Given the description of an element on the screen output the (x, y) to click on. 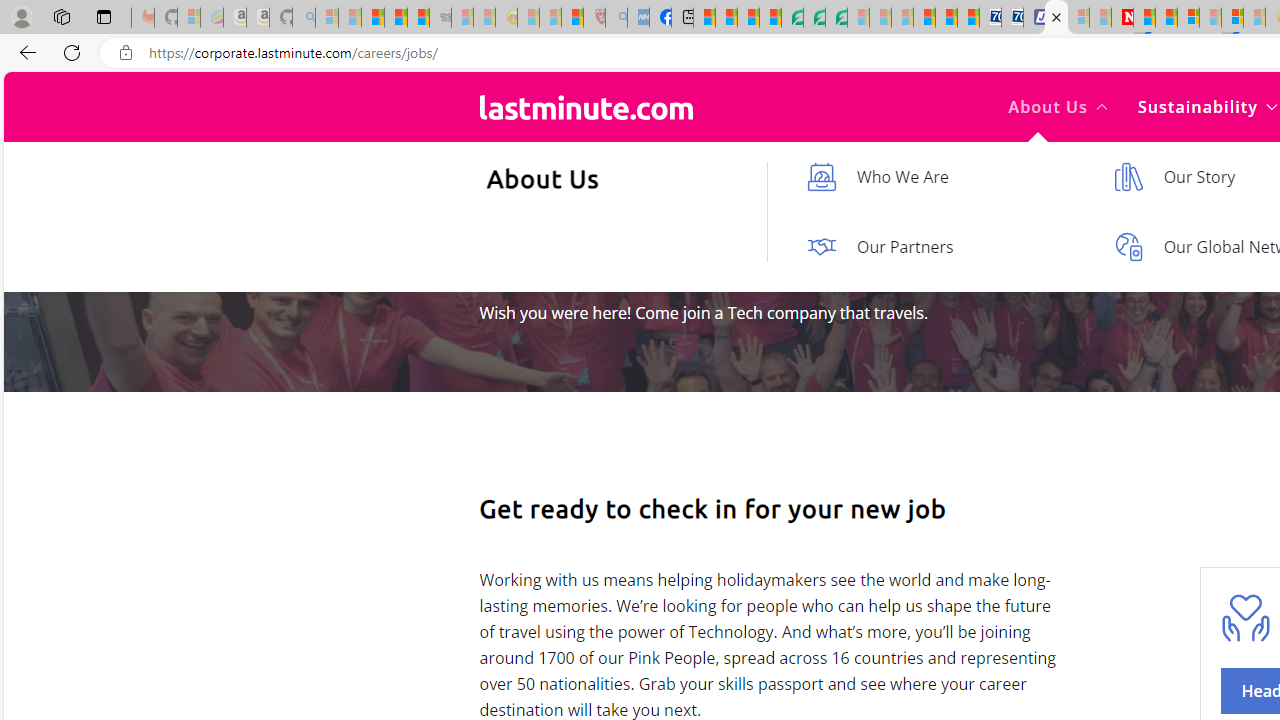
Jobs - lastminute.com Investor Portal (1056, 17)
Who We Are (939, 177)
Cheap Car Rentals - Save70.com (990, 17)
Microsoft-Report a Concern to Bing - Sleeping (188, 17)
Microsoft Start - Sleeping (1100, 17)
Microsoft Word - consumer-privacy address update 2.2021 (836, 17)
Microsoft account | Privacy - Sleeping (1078, 17)
Sustainability (1206, 106)
About Us (1058, 106)
Our Partners (939, 246)
